Given the description of an element on the screen output the (x, y) to click on. 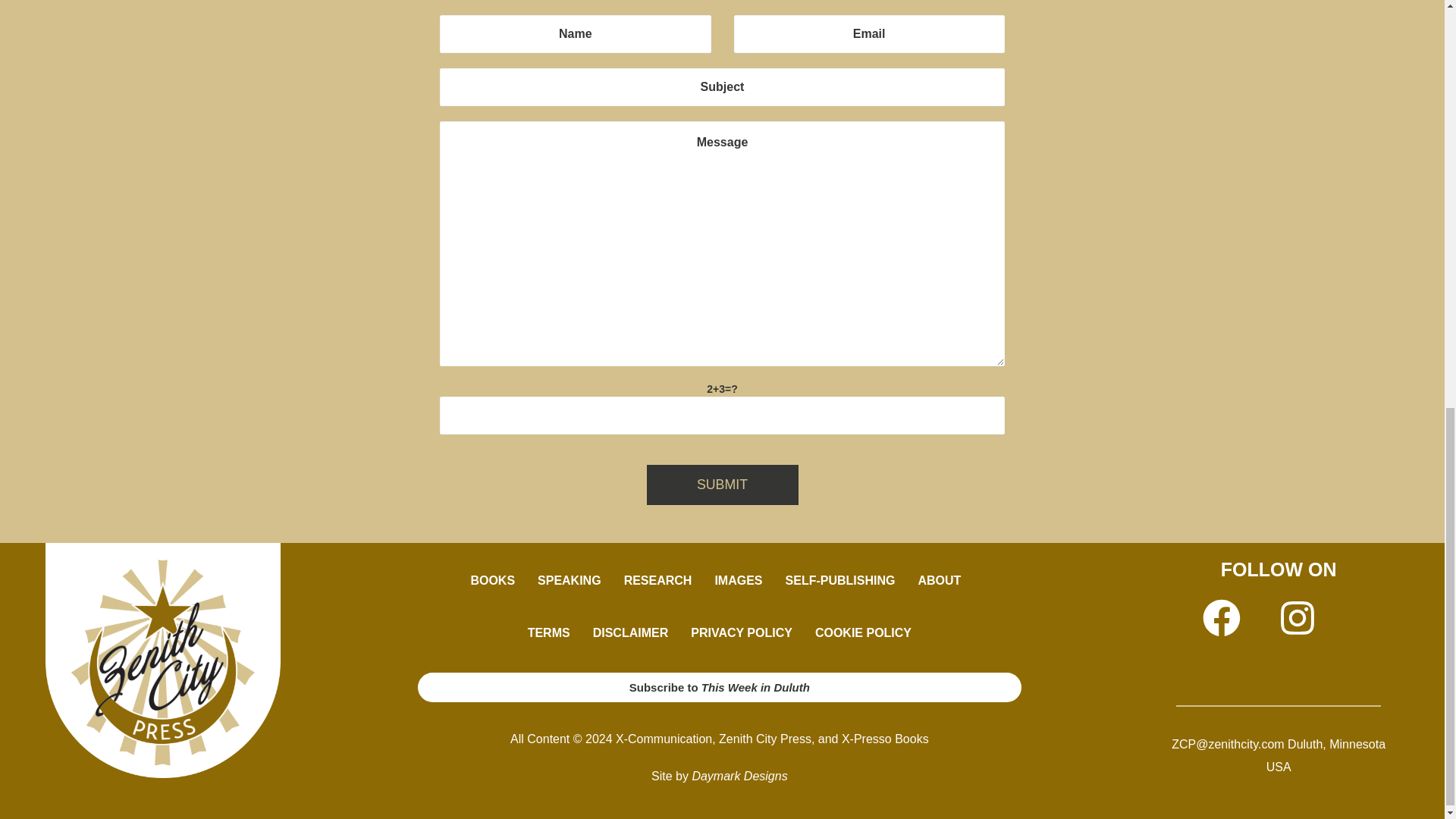
SPEAKING (568, 580)
PRIVACY POLICY (741, 633)
Submit (721, 485)
IMAGES (738, 580)
Submit (721, 485)
DISCLAIMER (629, 633)
BOOKS (491, 580)
RESEARCH (657, 580)
COOKIE POLICY (863, 633)
ABOUT (942, 580)
